Given the description of an element on the screen output the (x, y) to click on. 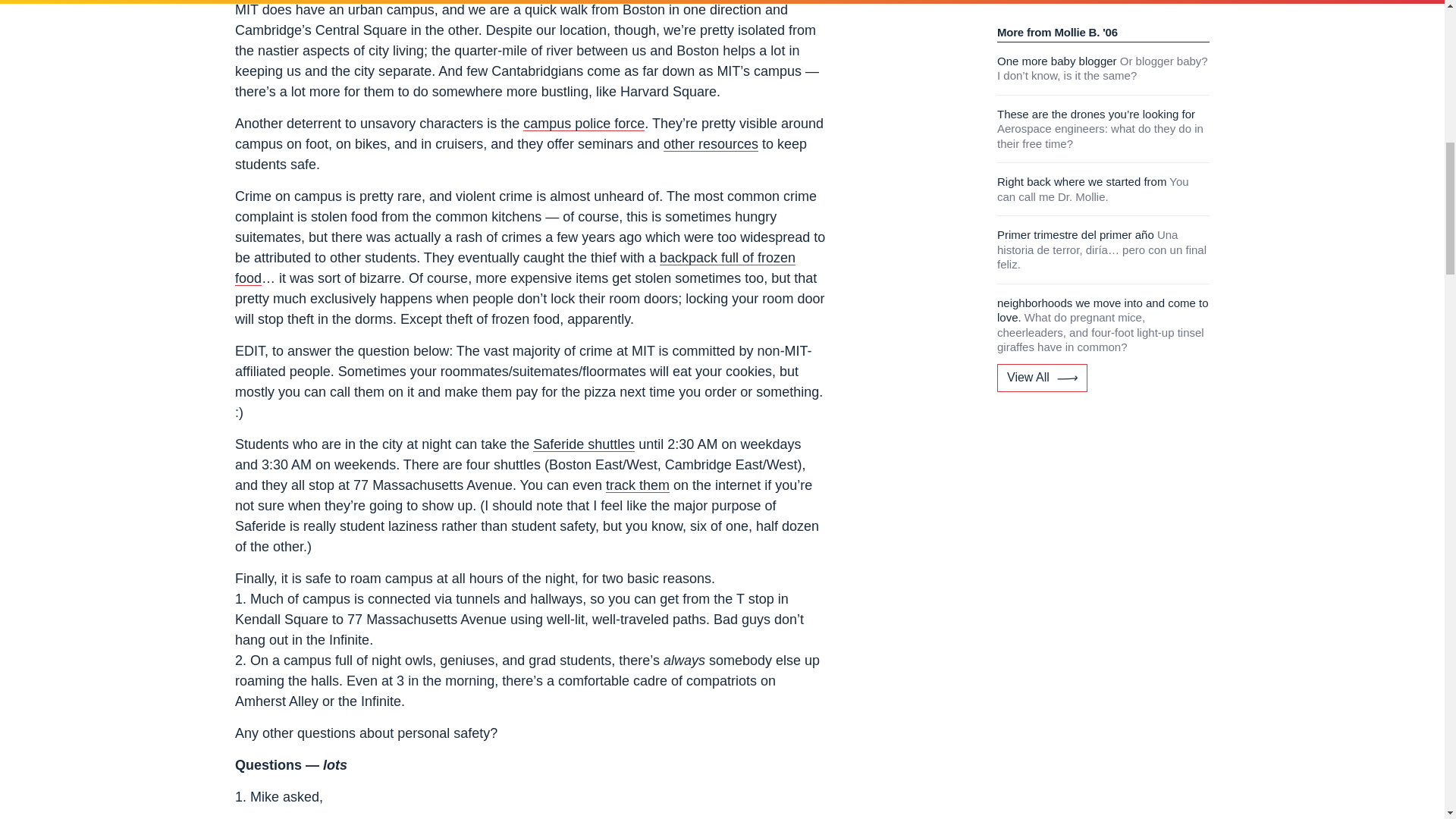
An arrow pointing right (1067, 10)
